Given the description of an element on the screen output the (x, y) to click on. 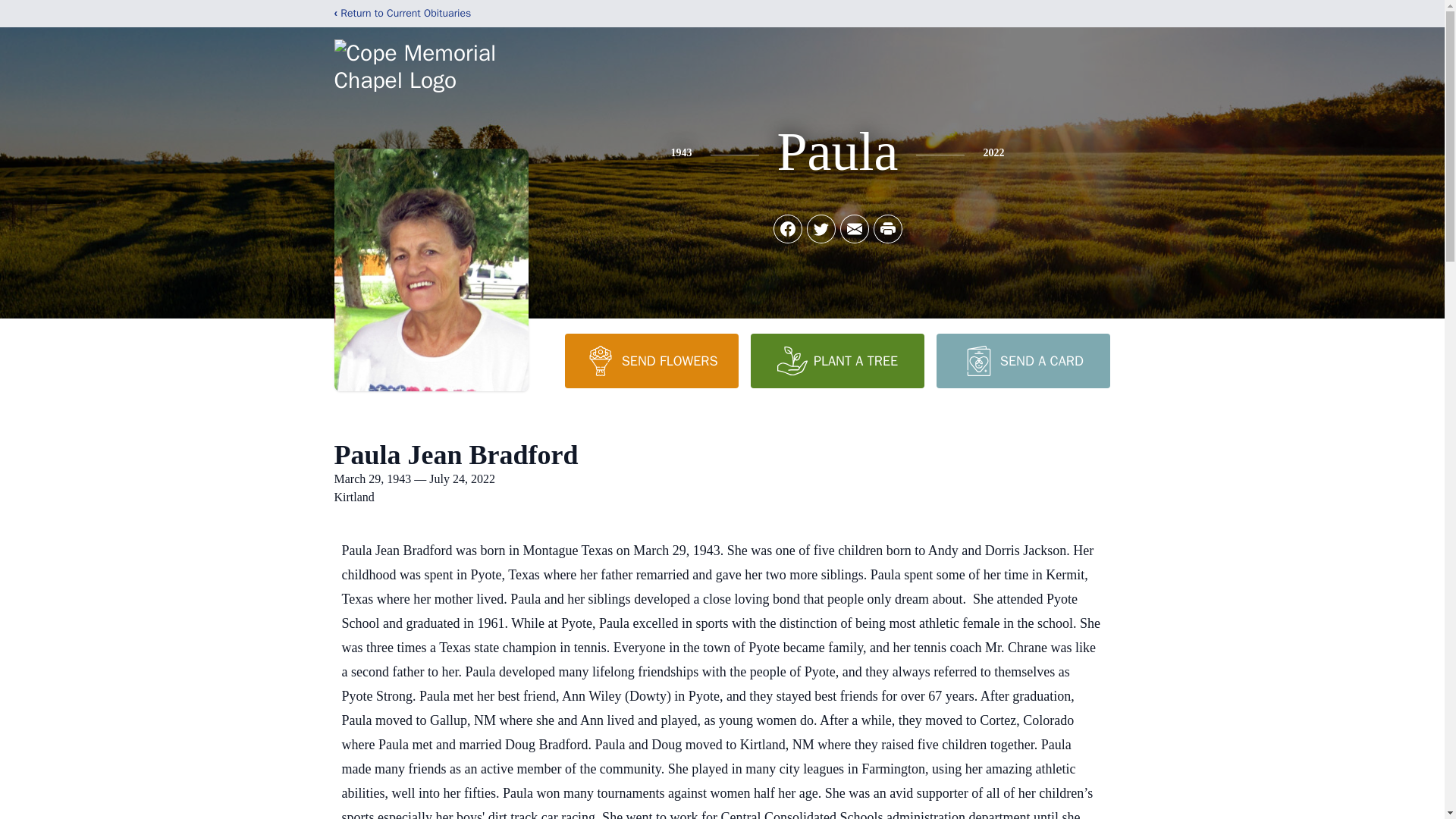
SEND FLOWERS (651, 360)
SEND A CARD (1022, 360)
PLANT A TREE (837, 360)
